Given the description of an element on the screen output the (x, y) to click on. 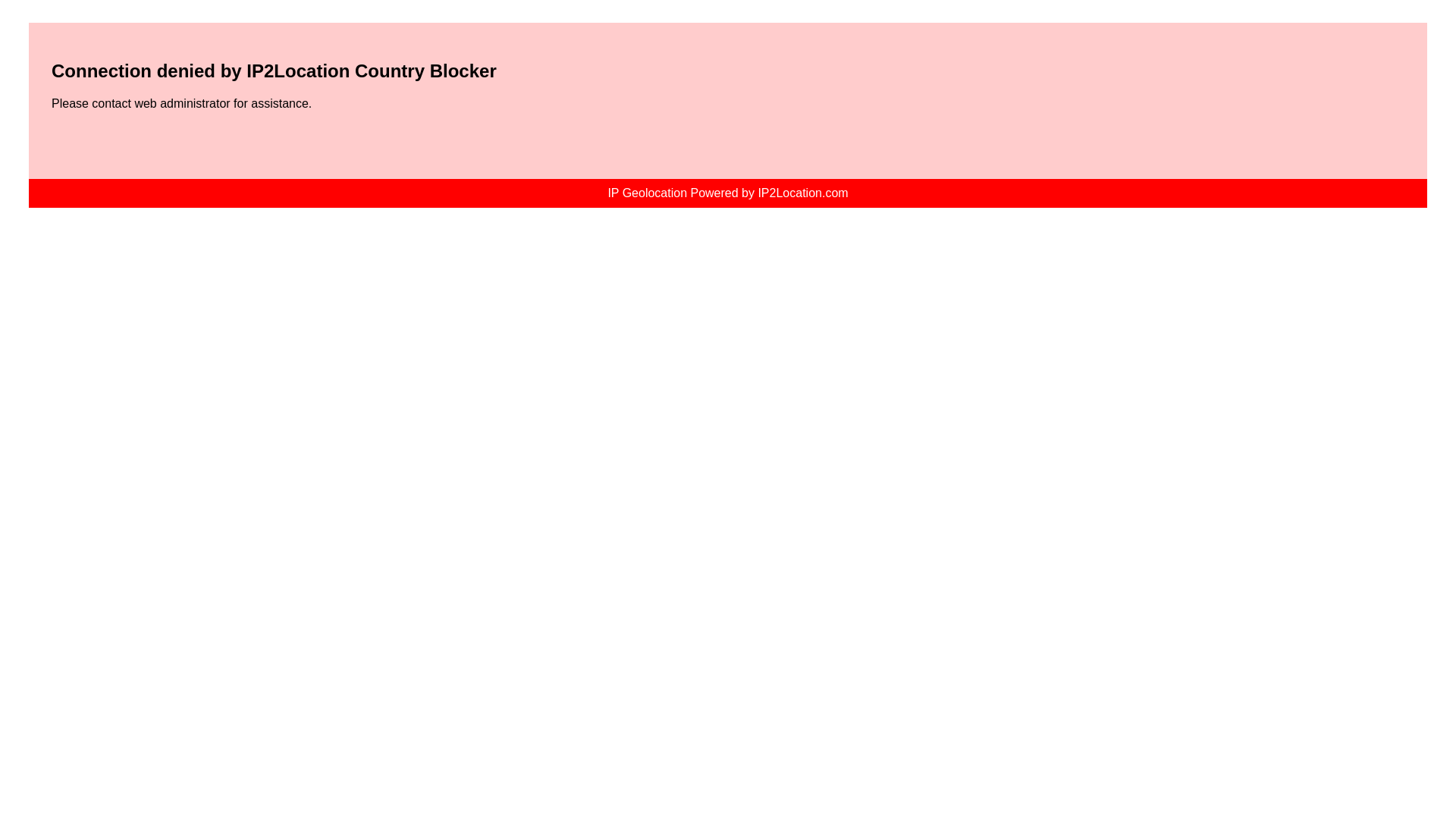
IP Geolocation Powered by IP2Location.com (727, 192)
